Given the description of an element on the screen output the (x, y) to click on. 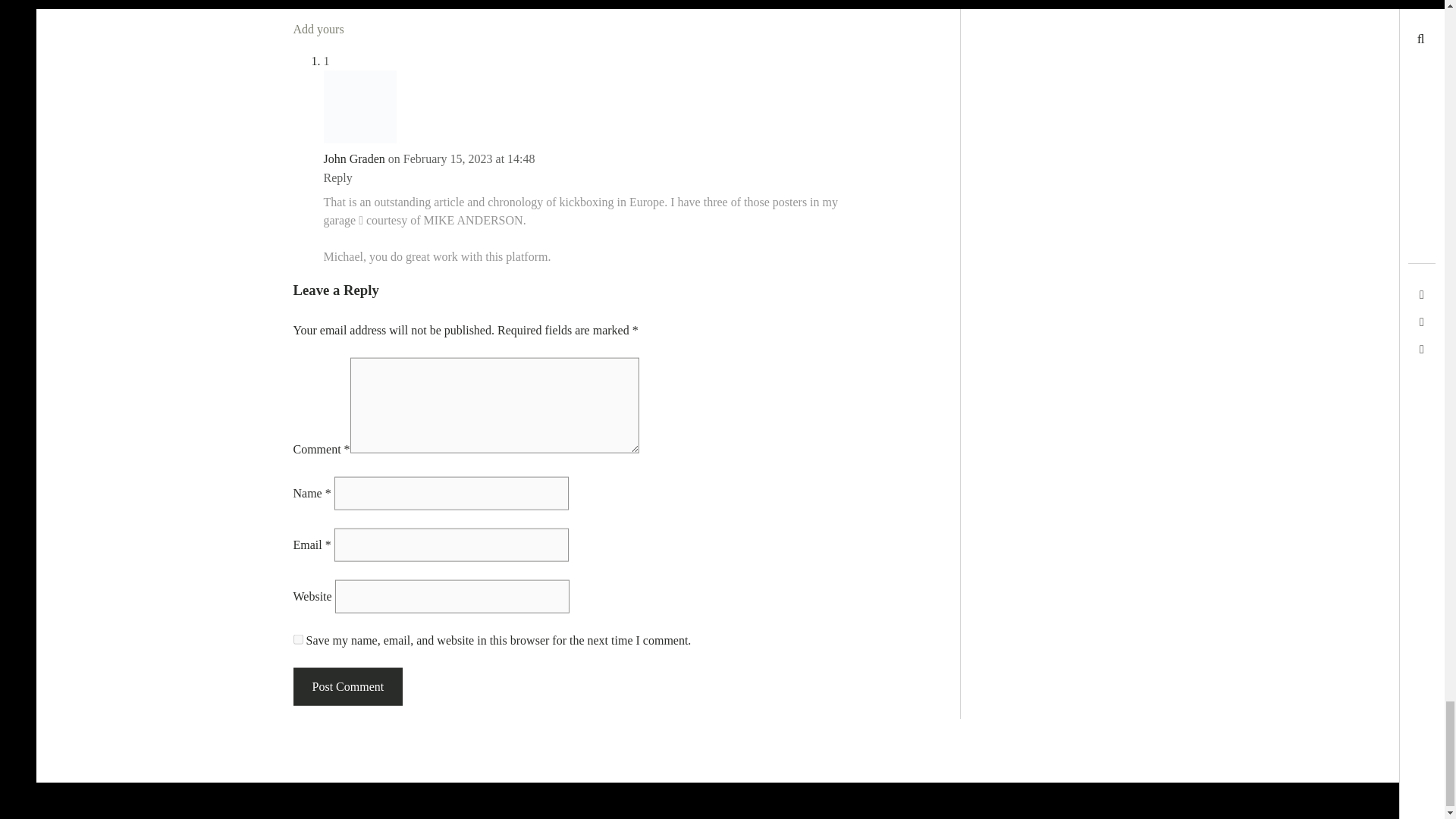
John Graden (353, 158)
on February 15, 2023 at 14:48 (461, 158)
Add yours (317, 29)
yes (297, 638)
Reply (337, 177)
Post Comment (347, 686)
Post Comment (347, 686)
